Given the description of an element on the screen output the (x, y) to click on. 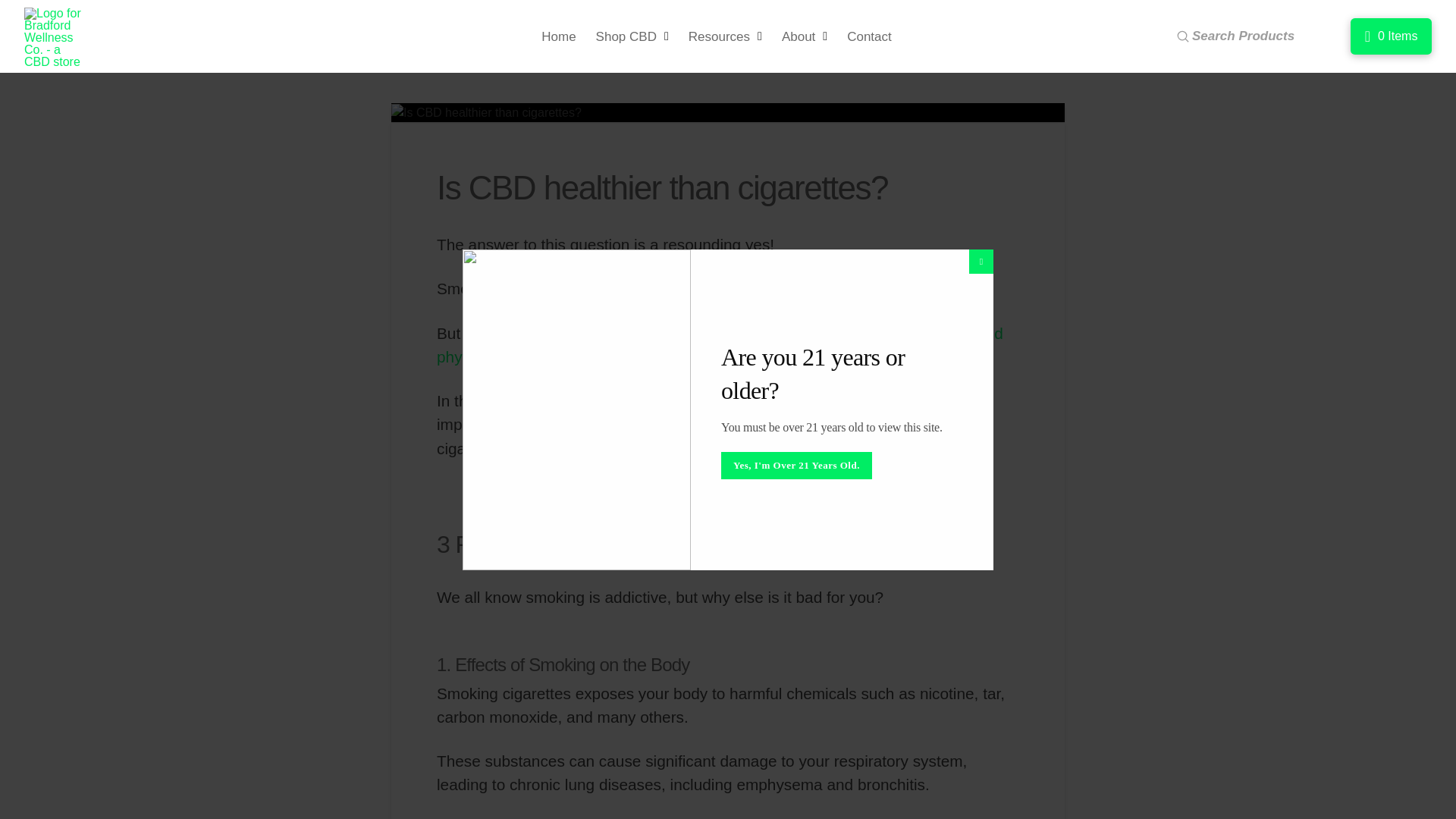
0 Items (1391, 36)
Shop CBD (632, 35)
Submit (1182, 36)
may contribute to your mental and physical health (719, 344)
About (804, 35)
Resources (724, 35)
Contact (869, 35)
Home (558, 35)
